Given the description of an element on the screen output the (x, y) to click on. 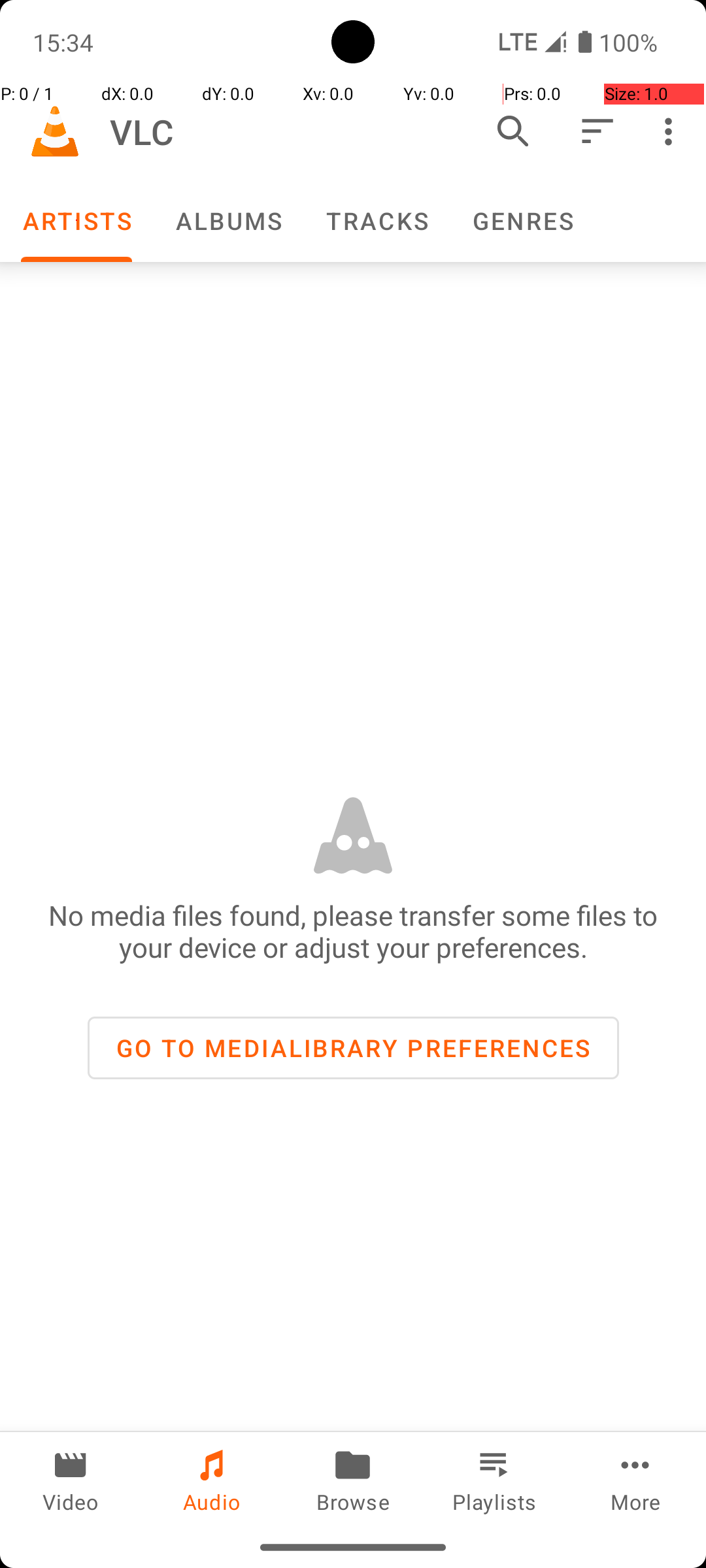
GO TO MEDIALIBRARY PREFERENCES Element type: android.widget.Button (353, 1047)
